Given the description of an element on the screen output the (x, y) to click on. 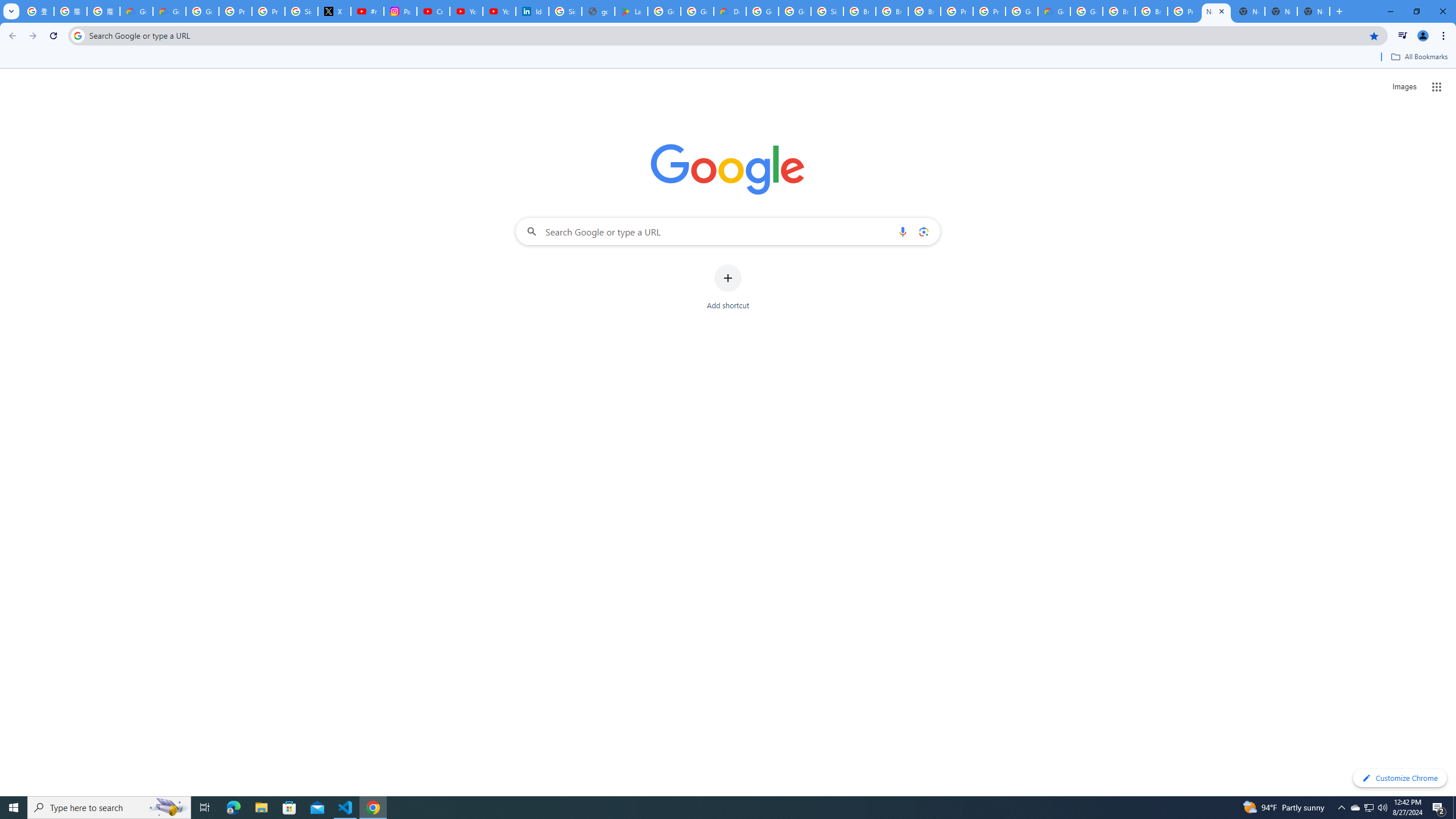
Search by image (922, 230)
Google Cloud Platform (1086, 11)
Google Cloud Estimate Summary (1053, 11)
Customize Chrome (1399, 778)
Add shortcut (727, 287)
Browse Chrome as a guest - Computer - Google Chrome Help (891, 11)
Bookmarks (728, 58)
Search by voice (902, 230)
Google Cloud Platform (762, 11)
